Given the description of an element on the screen output the (x, y) to click on. 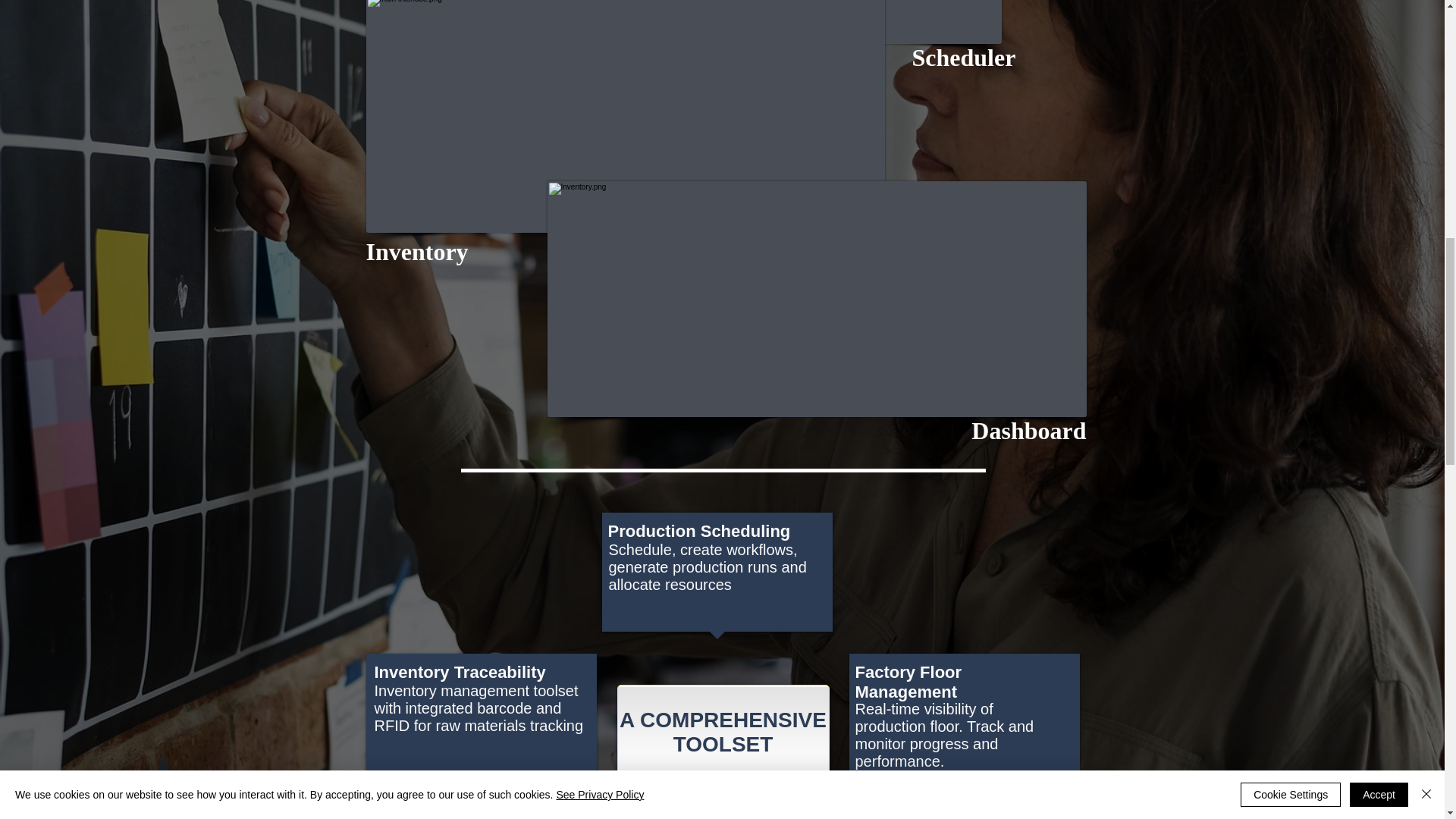
View your schedule in full view (722, 22)
Quickly generate, maintain and translate sales quotations. (624, 116)
